Given the description of an element on the screen output the (x, y) to click on. 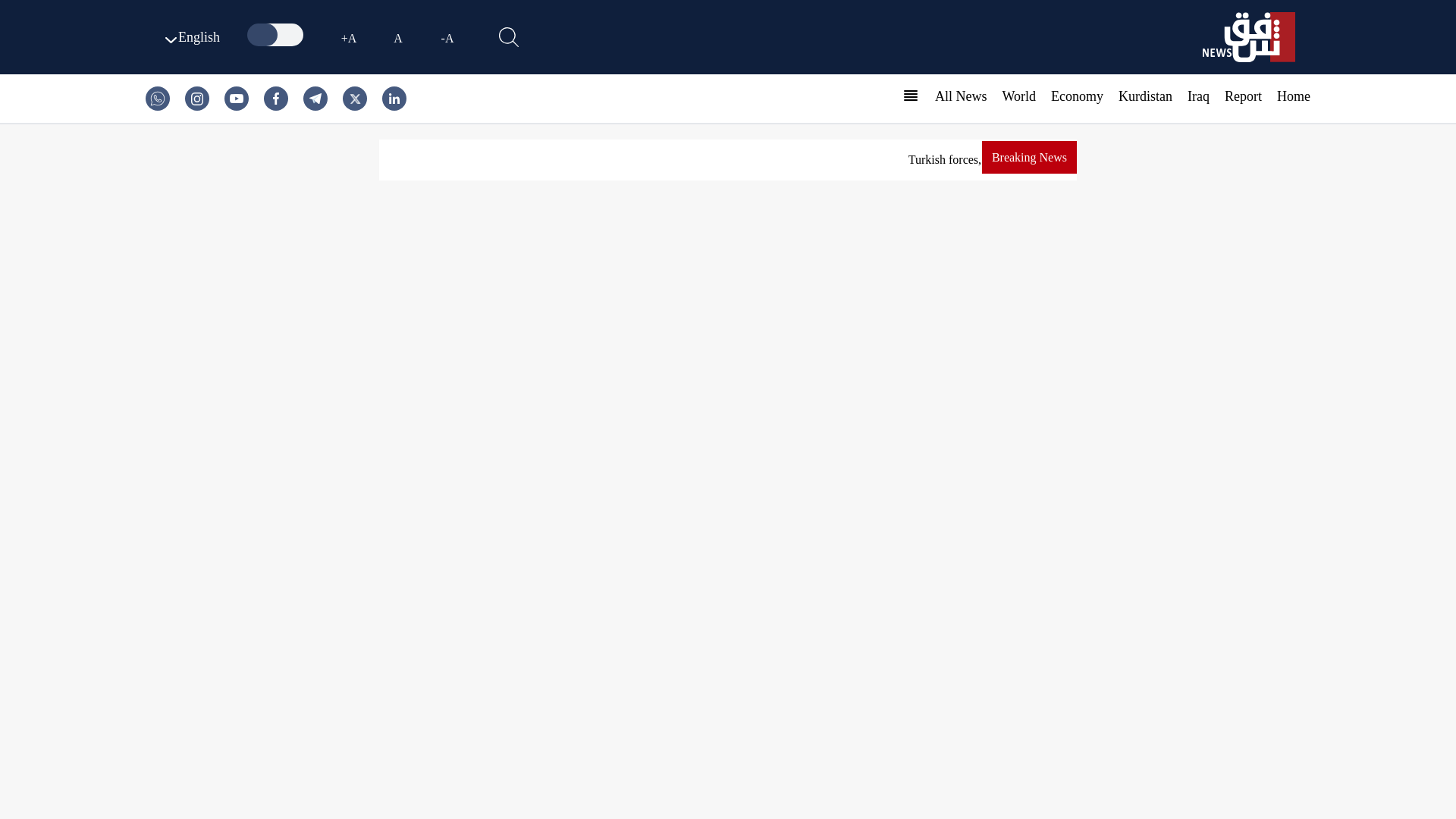
Report (1243, 96)
World (1018, 96)
Economy (1077, 96)
A (397, 37)
on (276, 34)
Iraq (1198, 96)
A- (447, 37)
All News (960, 96)
Home (1293, 96)
English (189, 37)
